Given the description of an element on the screen output the (x, y) to click on. 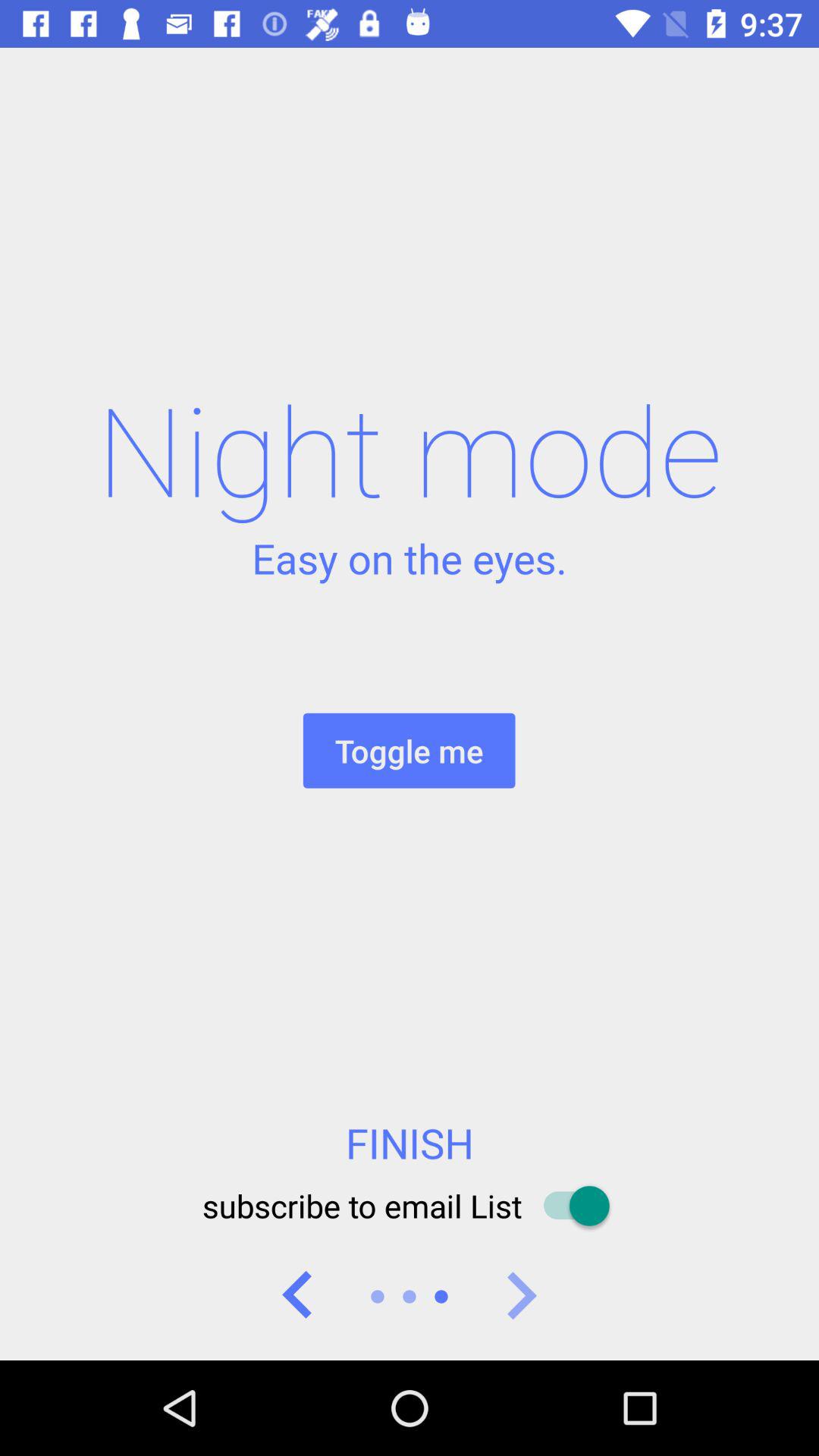
flip until the finish icon (409, 1143)
